Given the description of an element on the screen output the (x, y) to click on. 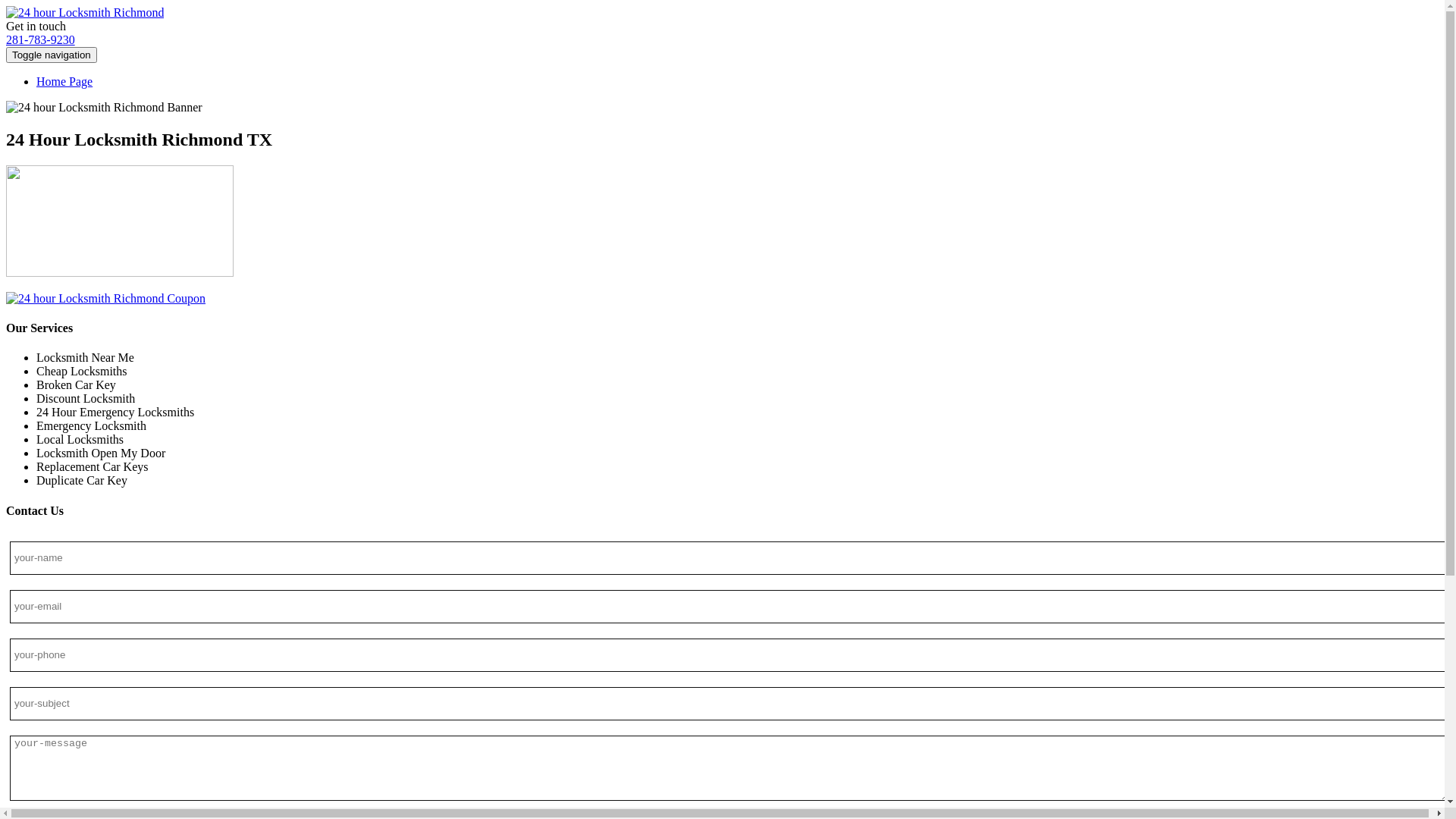
Toggle navigation Element type: text (51, 54)
281-783-9230 Element type: text (40, 39)
Home Page Element type: text (64, 81)
24 hour Locksmith Richmond Element type: hover (84, 12)
